Given the description of an element on the screen output the (x, y) to click on. 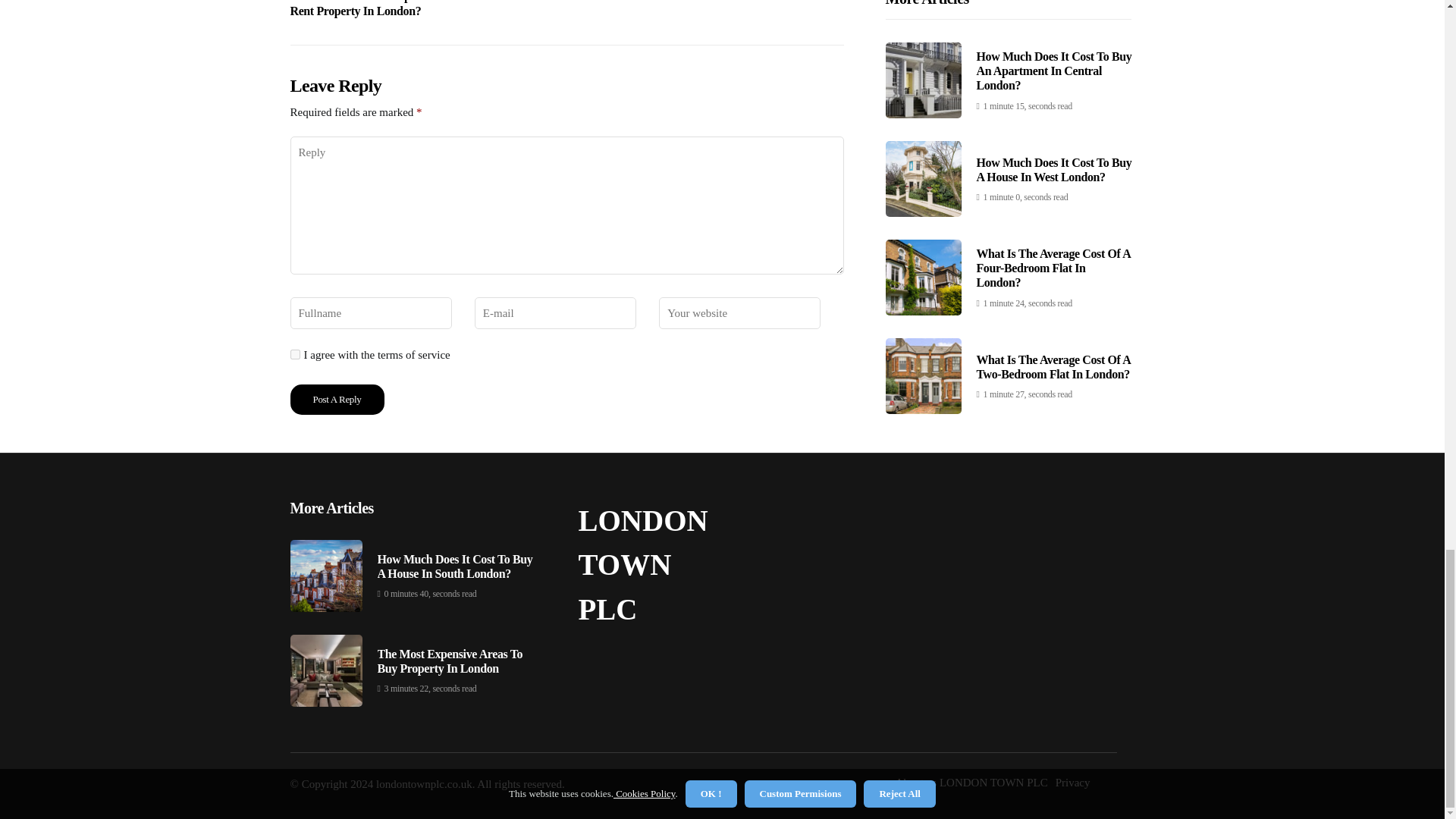
Post a Reply (336, 399)
Post a Reply (336, 399)
yes (294, 354)
